Given the description of an element on the screen output the (x, y) to click on. 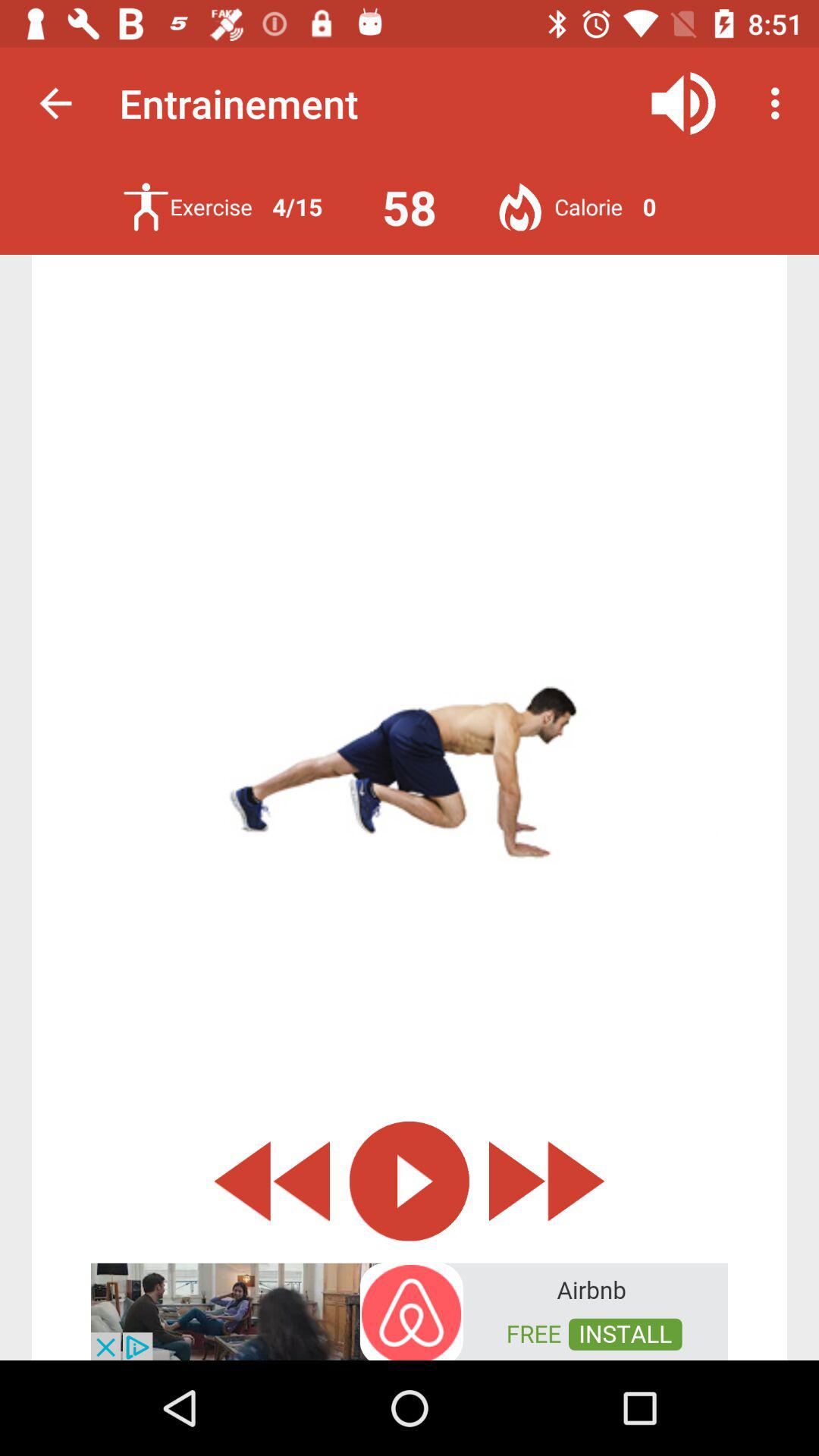
go back (271, 1181)
